Given the description of an element on the screen output the (x, y) to click on. 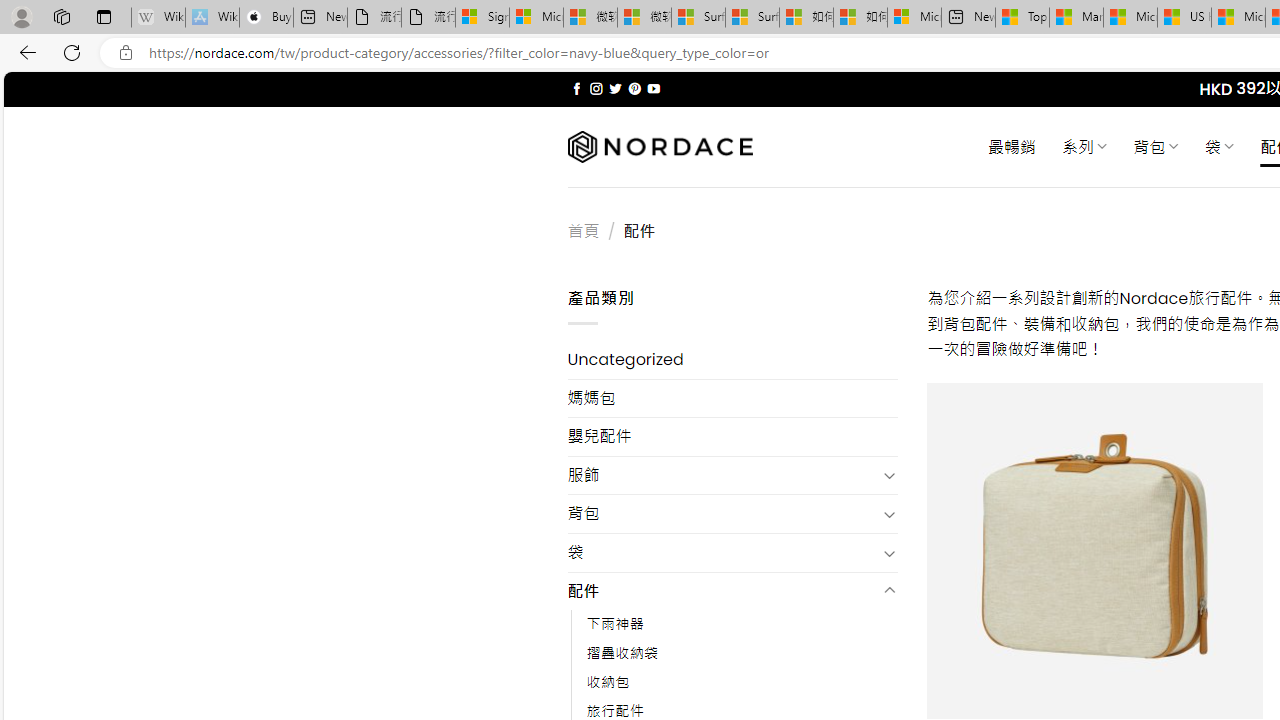
Uncategorized (732, 359)
